Given the description of an element on the screen output the (x, y) to click on. 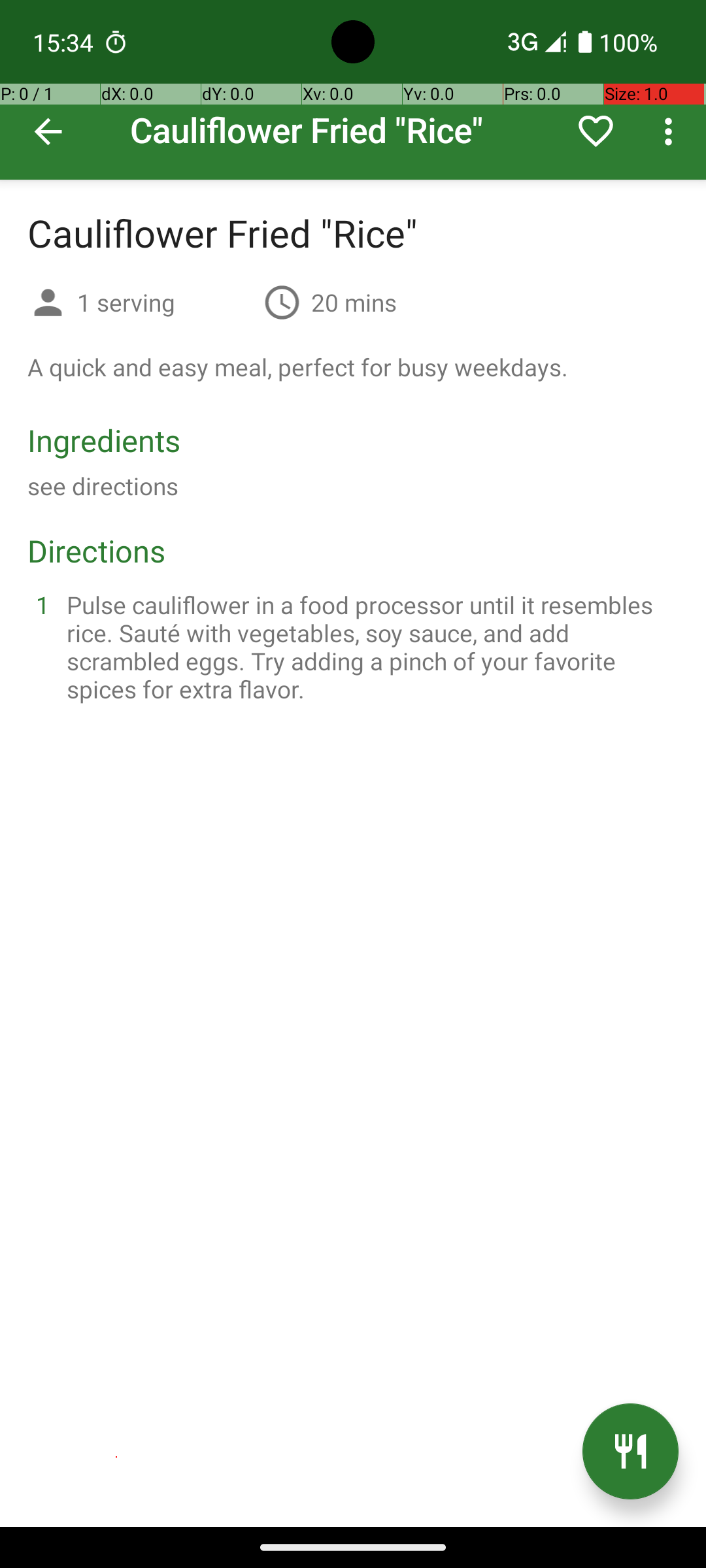
Pulse cauliflower in a food processor until it resembles rice. Sauté with vegetables, soy sauce, and add scrambled eggs. Try adding a pinch of your favorite spices for extra flavor. Element type: android.widget.TextView (368, 646)
